Given the description of an element on the screen output the (x, y) to click on. 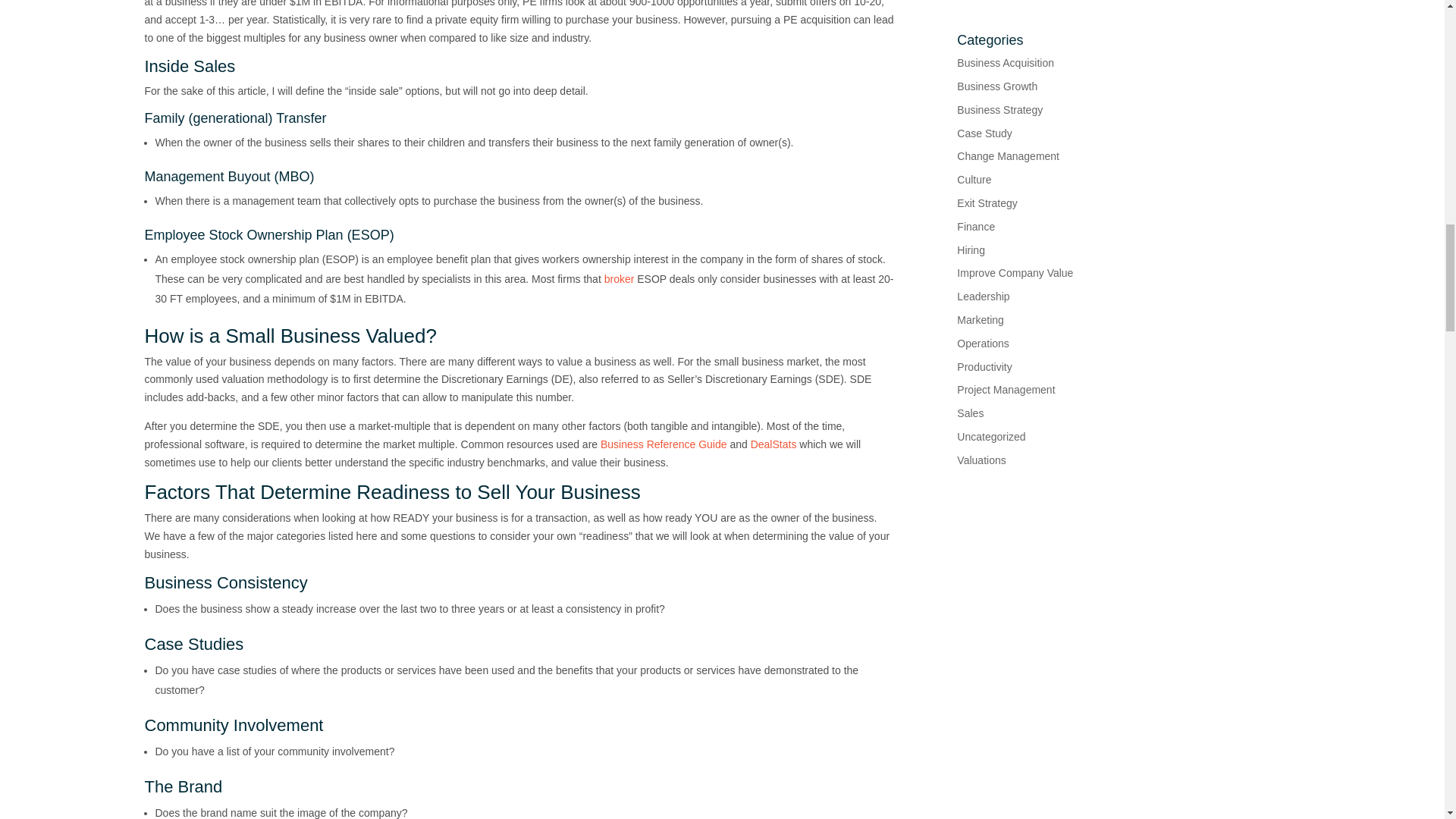
DealStats (773, 444)
broker (619, 278)
Business Reference Guide (662, 444)
